Given the description of an element on the screen output the (x, y) to click on. 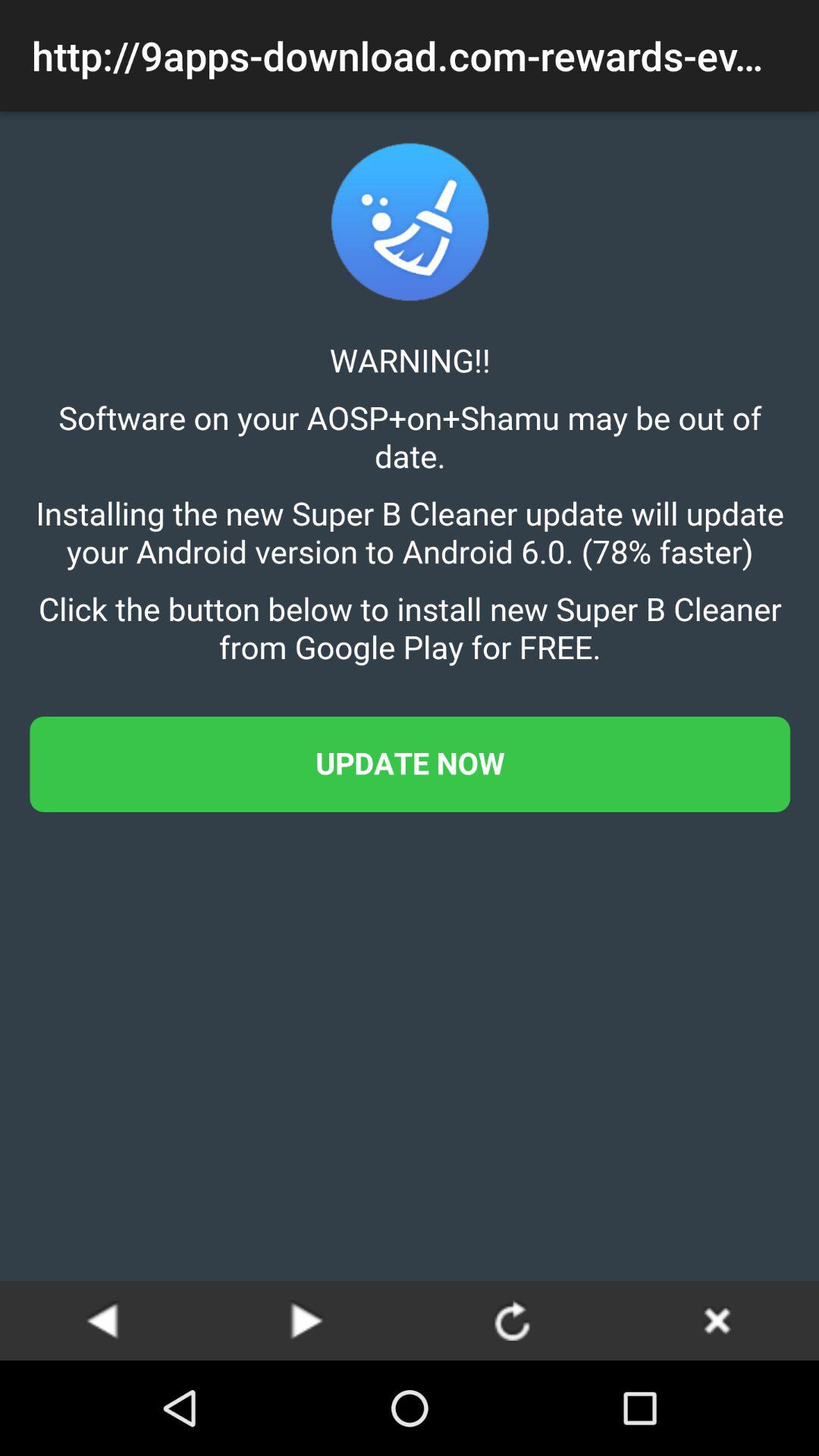
go to previous (102, 1320)
